Given the description of an element on the screen output the (x, y) to click on. 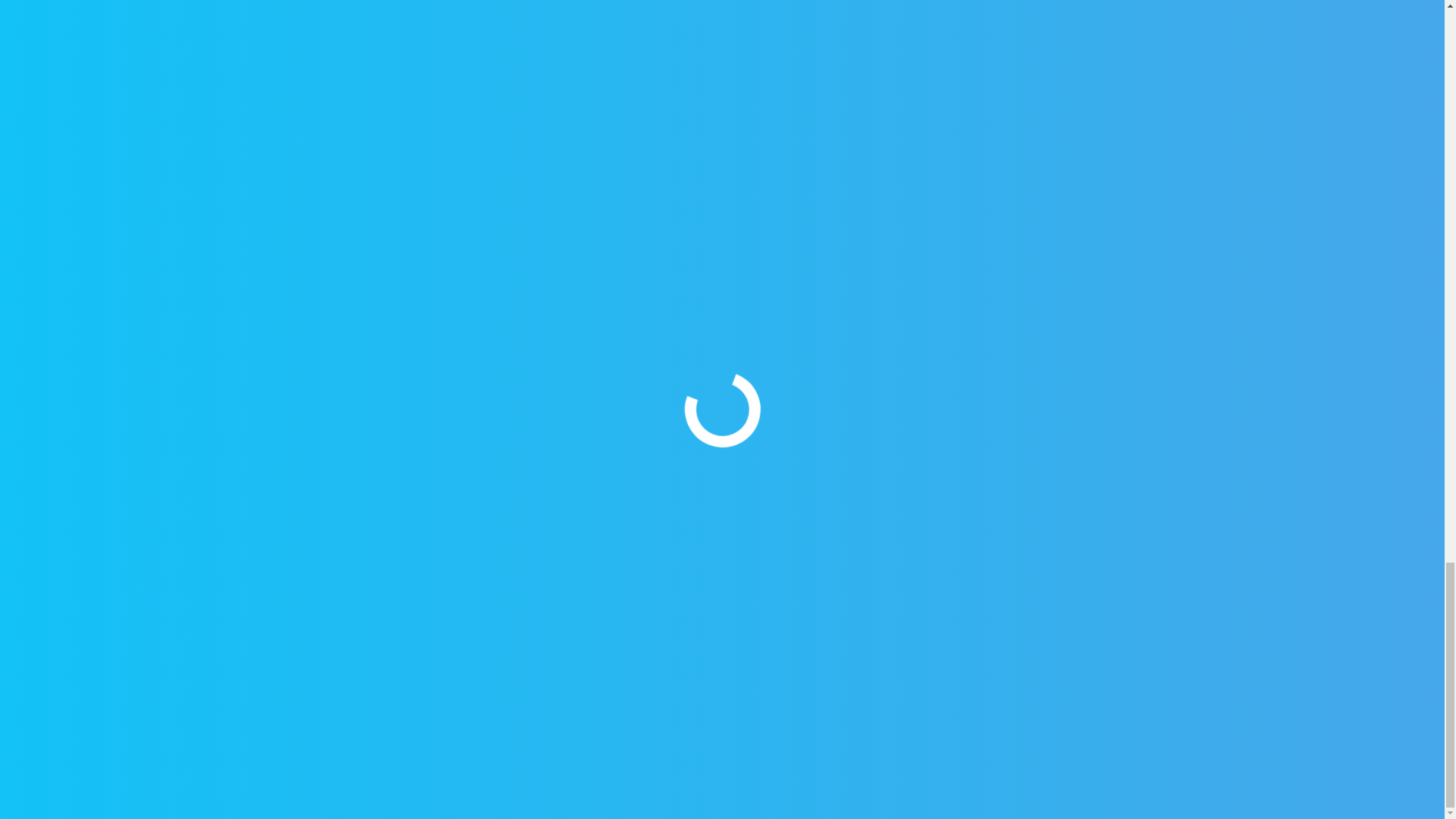
Home (274, 719)
Post Comment (689, 200)
Instagram (509, 650)
Facebook-f (296, 650)
Youtube (435, 650)
Twitter (370, 650)
Packages and Pricing (322, 751)
